Given the description of an element on the screen output the (x, y) to click on. 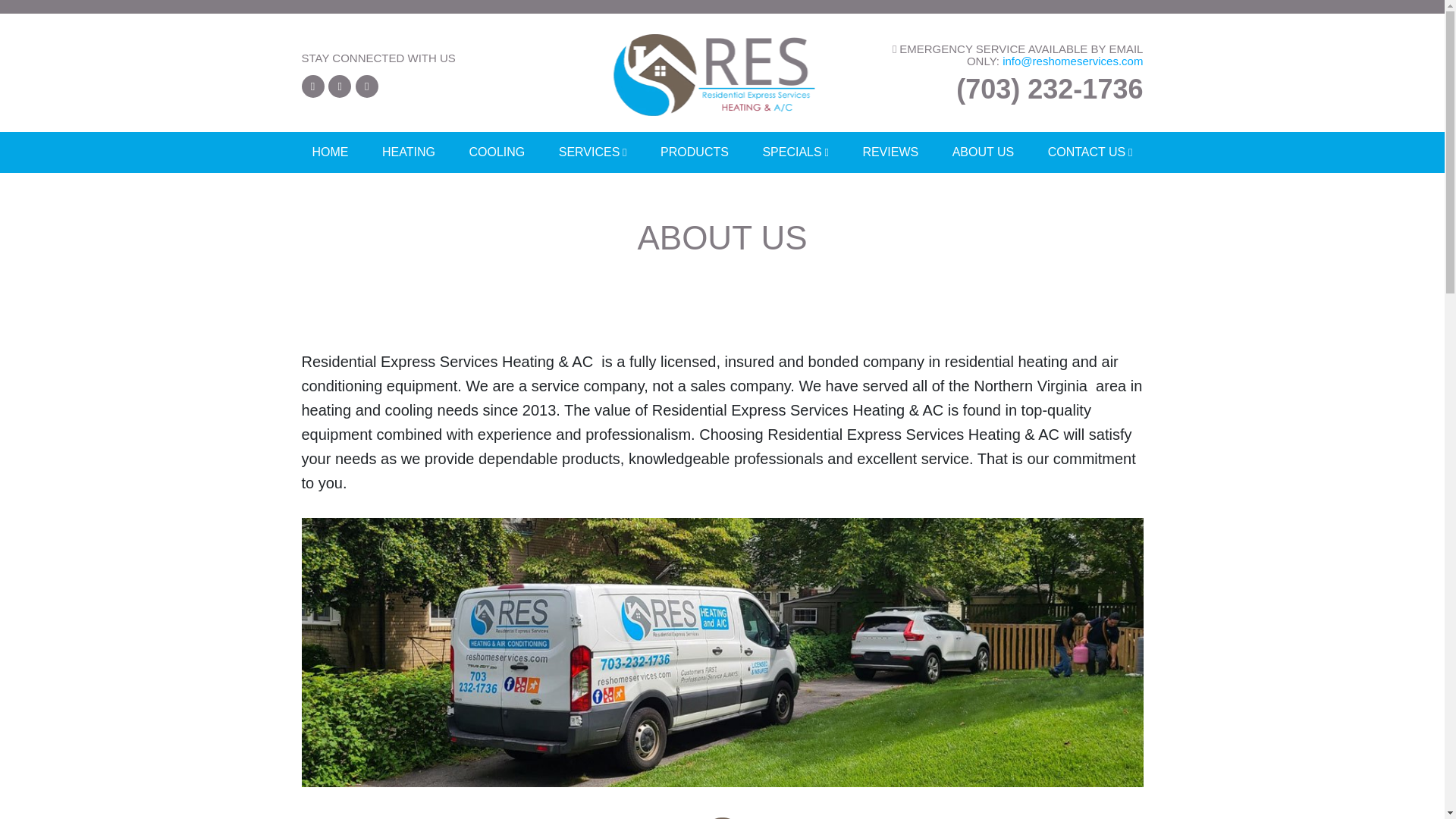
REVIEWS (889, 151)
COOLING (496, 151)
CONTACT US (1089, 151)
SERVICES (592, 151)
SPECIALS (795, 151)
ABOUT US (983, 151)
PRODUCTS (694, 151)
HEATING (408, 151)
HOME (330, 151)
